Given the description of an element on the screen output the (x, y) to click on. 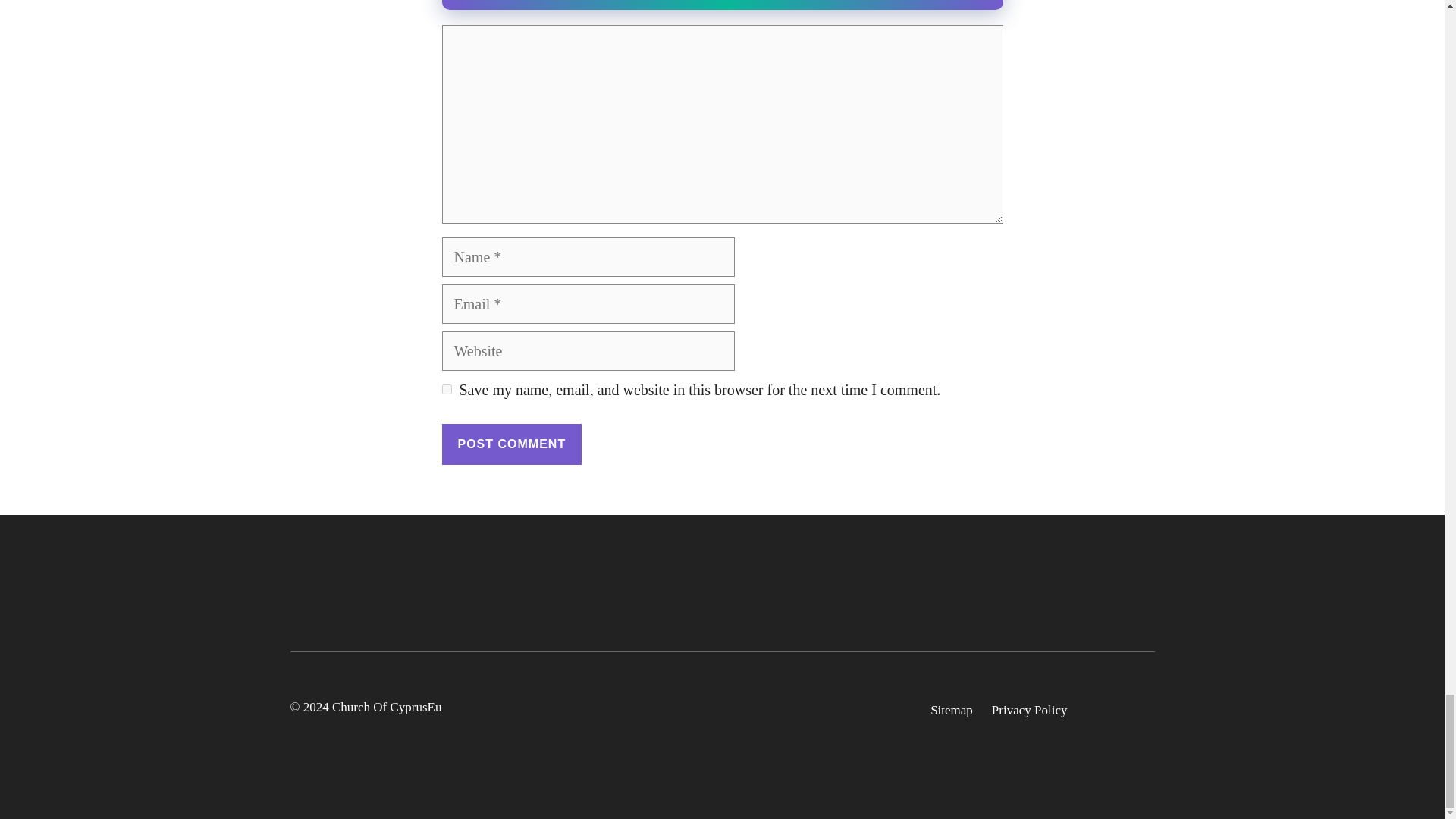
yes (446, 388)
Contact Us (1118, 709)
Sitemap (951, 710)
Post Comment (510, 444)
Privacy Policy (1029, 710)
Post Comment (510, 444)
